Given the description of an element on the screen output the (x, y) to click on. 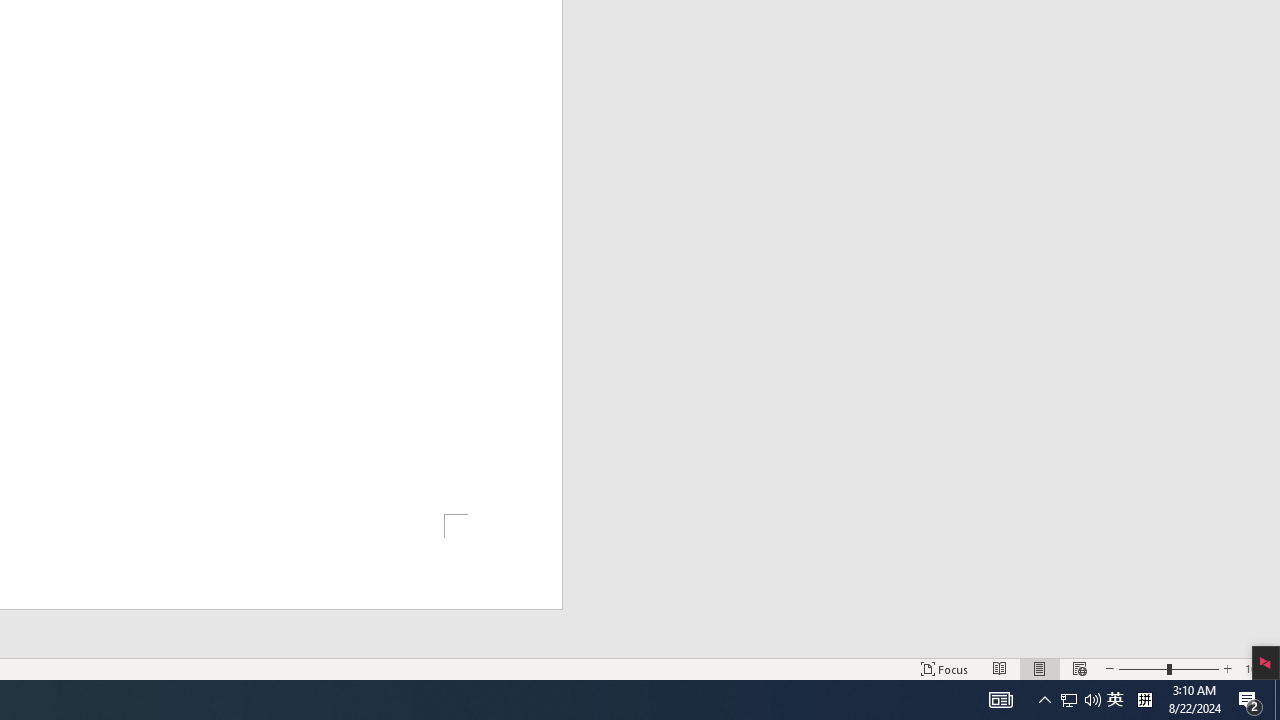
Zoom Out (1142, 668)
Zoom In (1227, 668)
Focus  (944, 668)
Read Mode (1000, 668)
Zoom 100% (1258, 668)
Zoom (1168, 668)
Web Layout (1079, 668)
Print Layout (1039, 668)
